Given the description of an element on the screen output the (x, y) to click on. 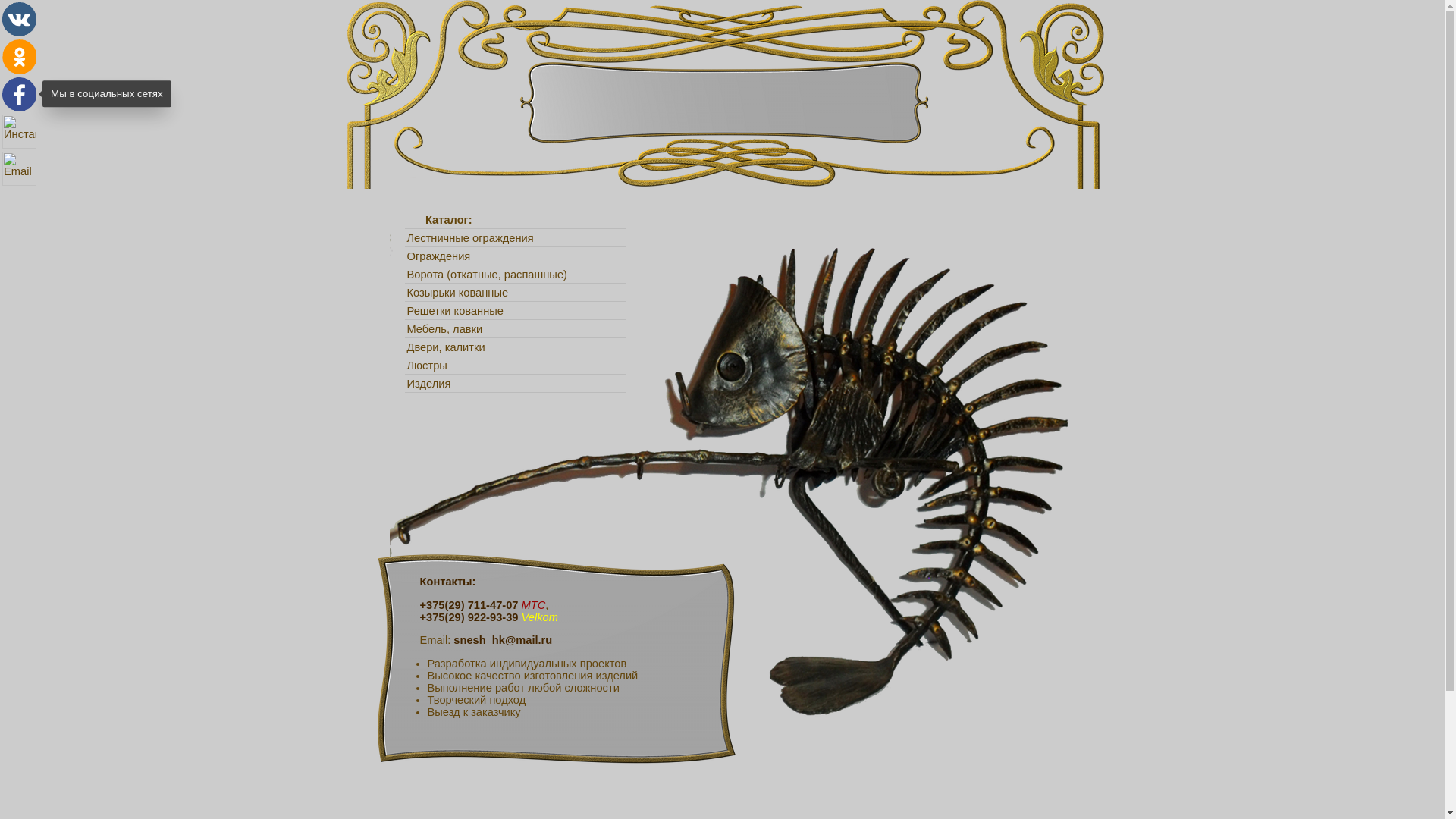
snesh_hk@mail.ru Element type: hover (19, 168)
